Given the description of an element on the screen output the (x, y) to click on. 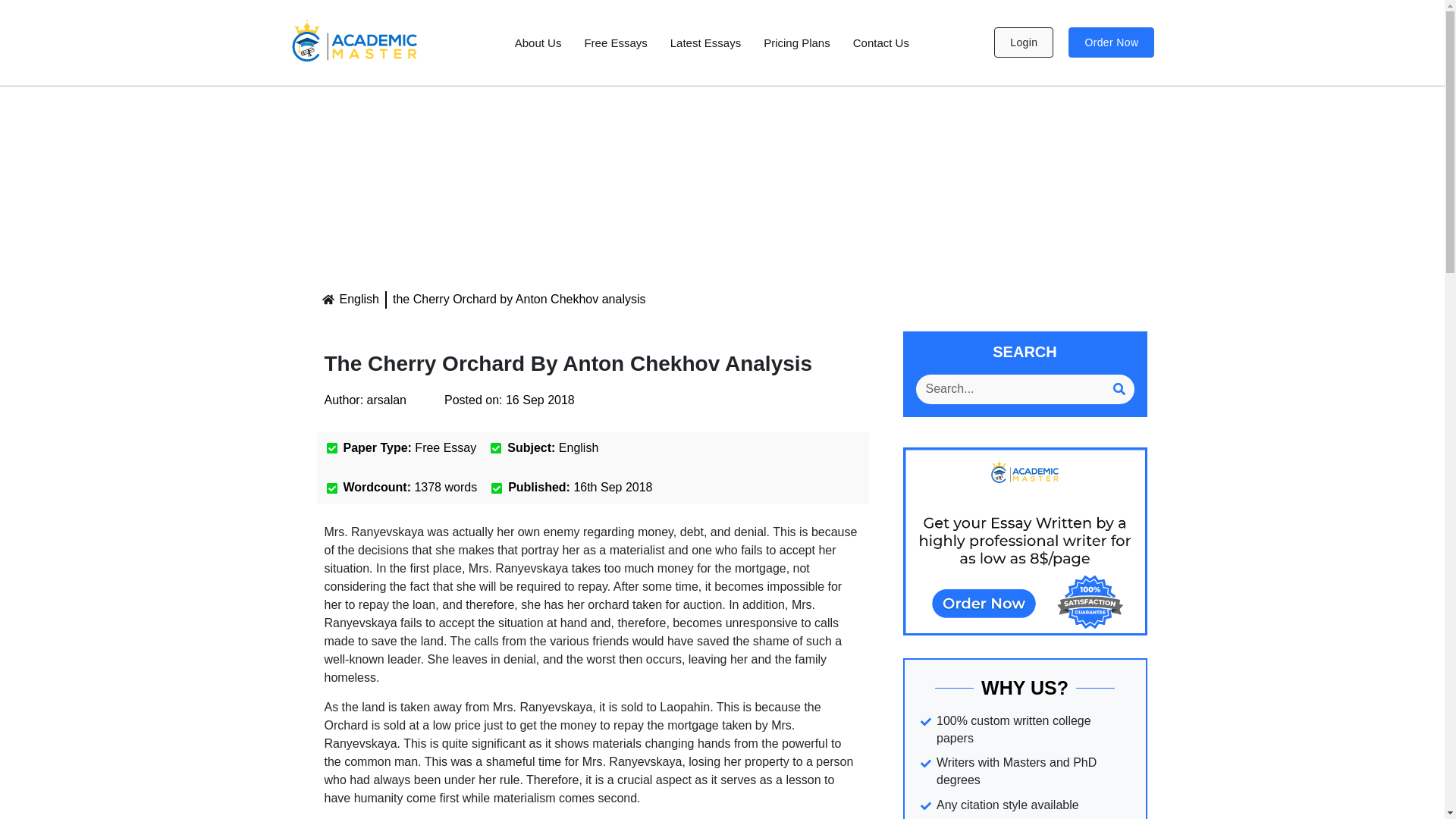
Order Now (1111, 42)
Pricing Plans (796, 42)
About Us (538, 42)
Contact Us (880, 42)
Login (1023, 42)
Latest Essays (705, 42)
Free Essays (615, 42)
